Given the description of an element on the screen output the (x, y) to click on. 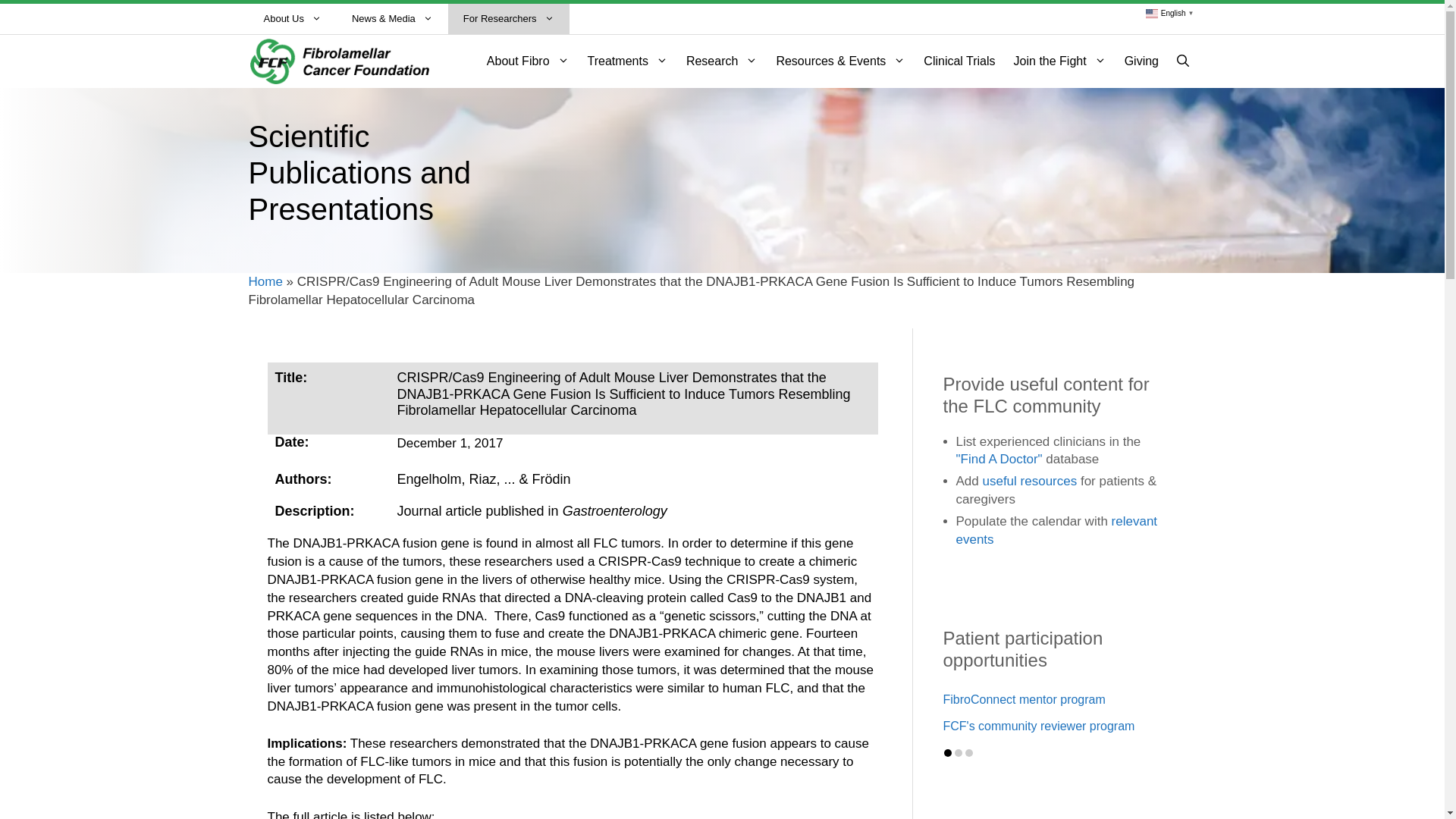
About Us (292, 19)
For Researchers (508, 19)
